Given the description of an element on the screen output the (x, y) to click on. 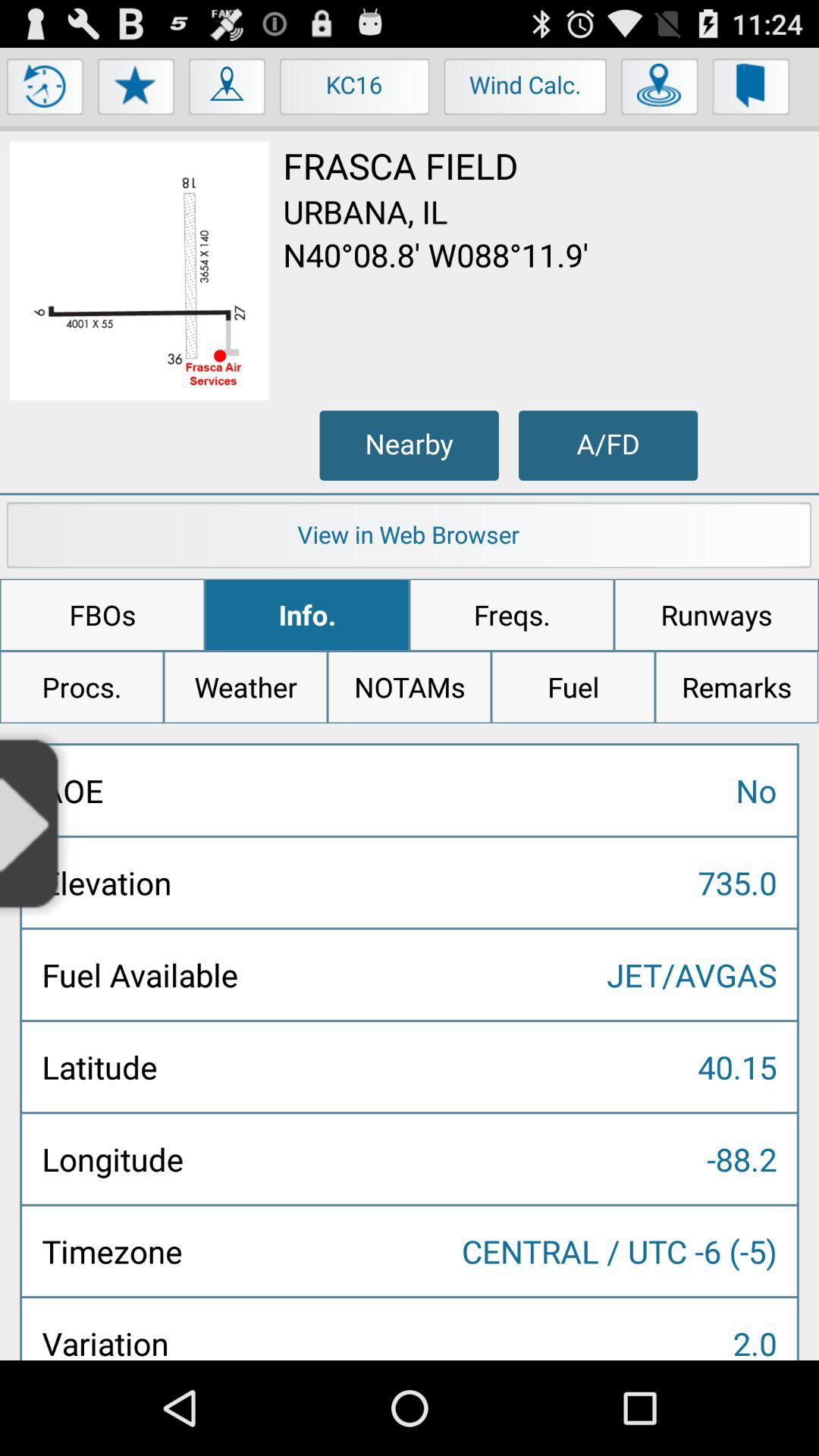
open time (45, 90)
